Given the description of an element on the screen output the (x, y) to click on. 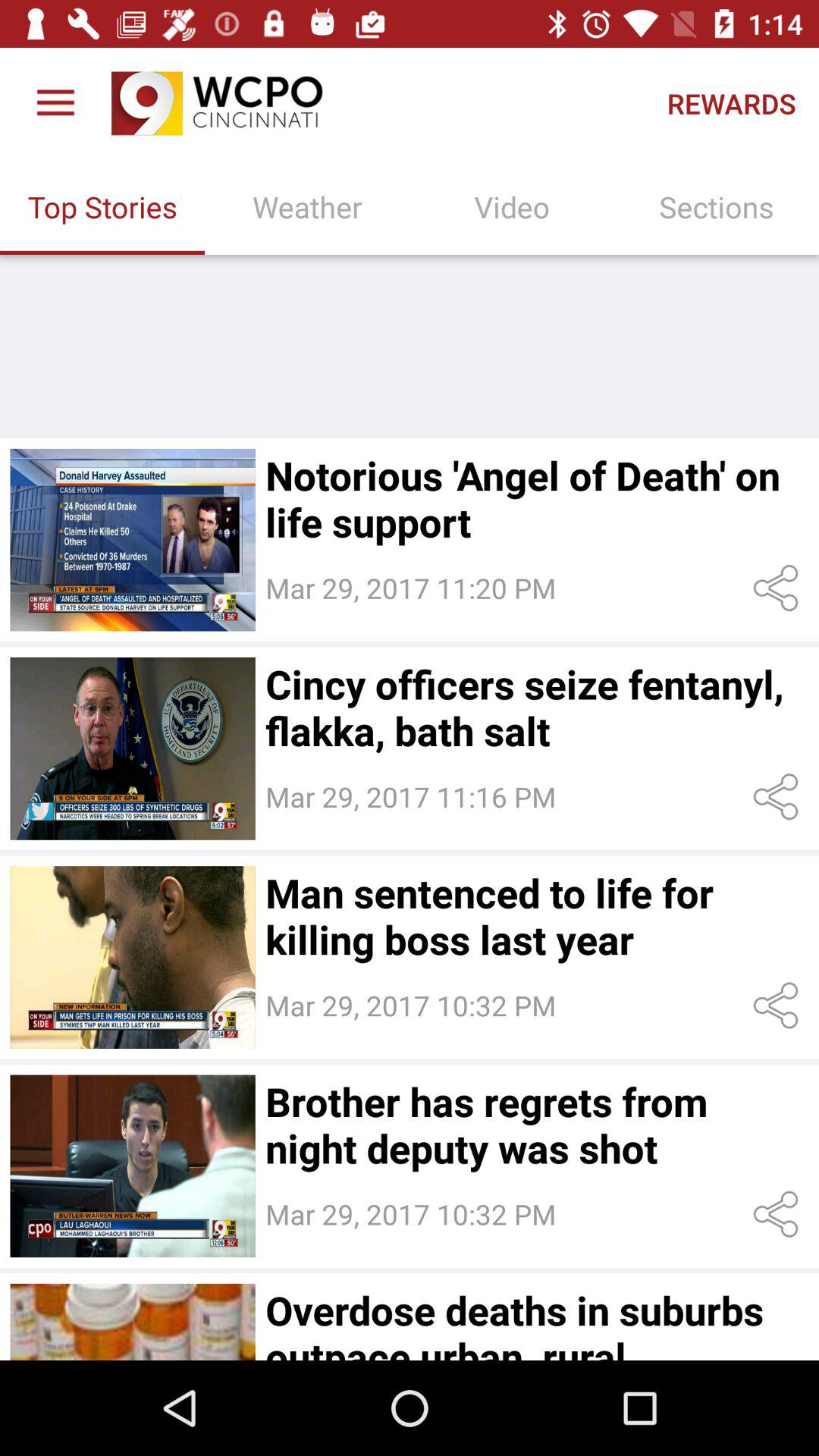
share video (778, 1005)
